Given the description of an element on the screen output the (x, y) to click on. 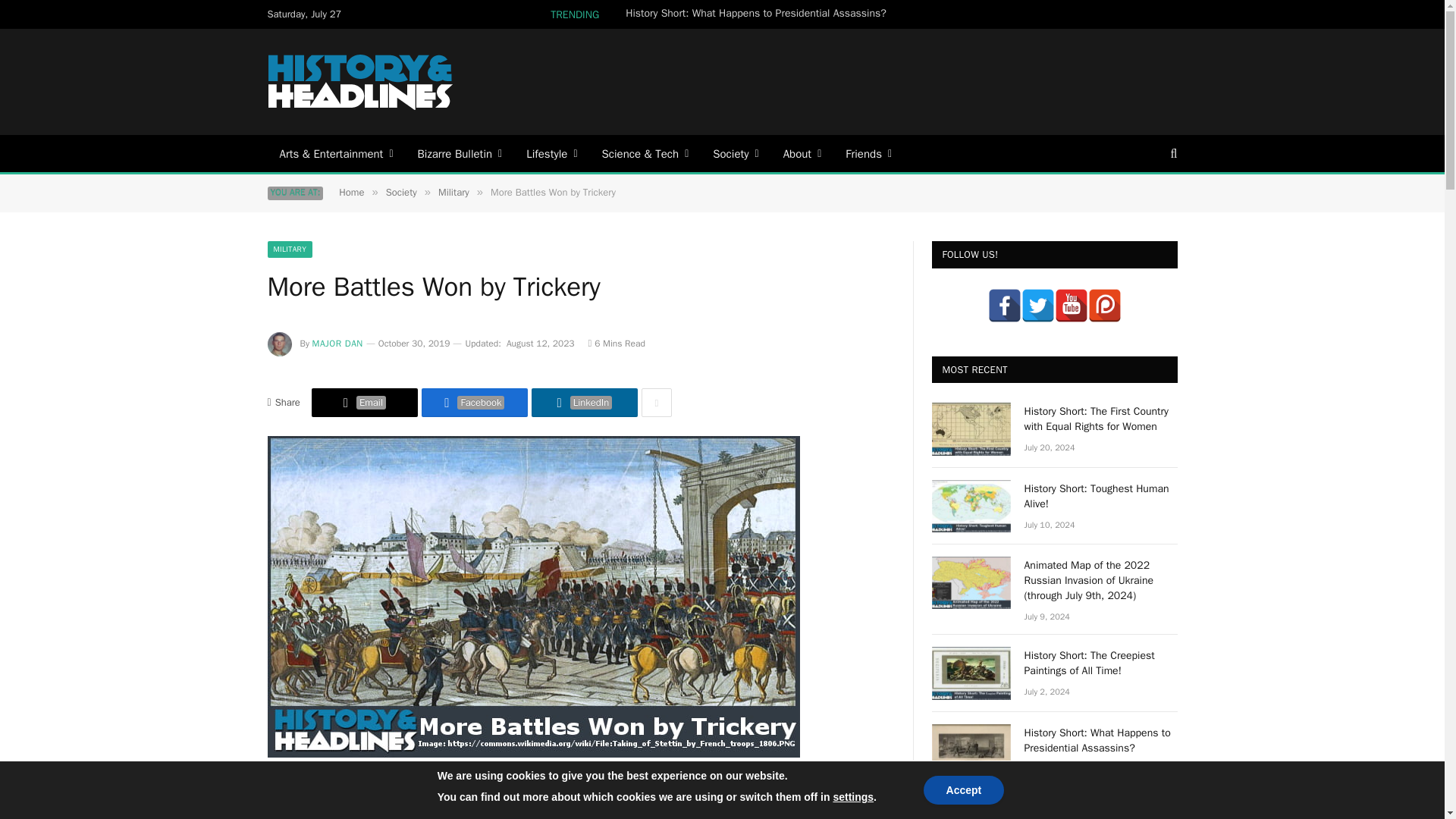
Share on LinkedIn (584, 402)
Posts by Major Dan (337, 343)
History and Headlines (361, 81)
Share via Email (364, 402)
Lifestyle (551, 153)
History Short: What Happens to Presidential Assassins? (759, 13)
Advertisement (900, 79)
Bizarre Bulletin (460, 153)
Share on Facebook (474, 402)
Society (735, 153)
